Given the description of an element on the screen output the (x, y) to click on. 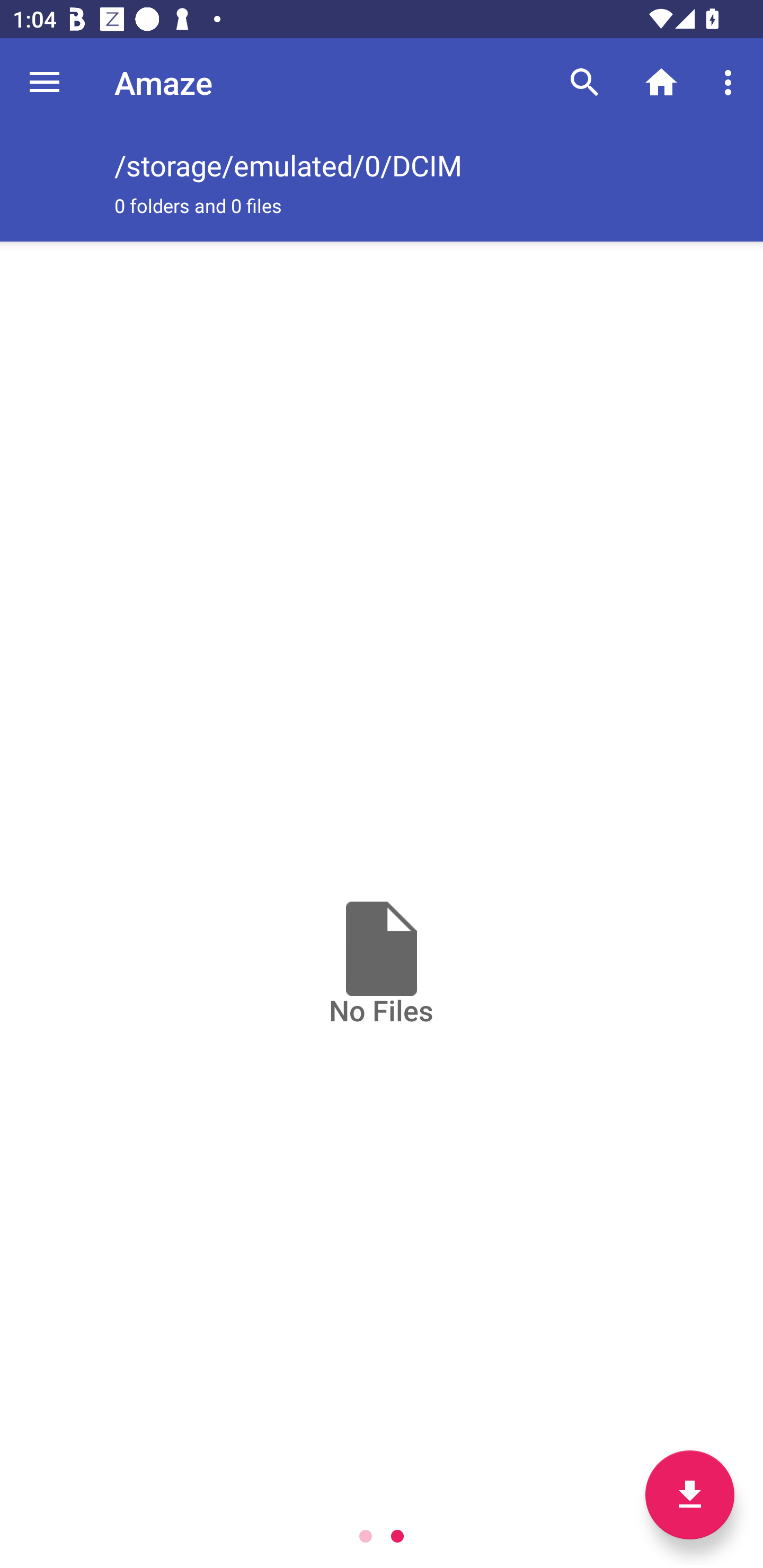
Navigate up (44, 82)
Search (585, 81)
Home (661, 81)
More options (731, 81)
